Given the description of an element on the screen output the (x, y) to click on. 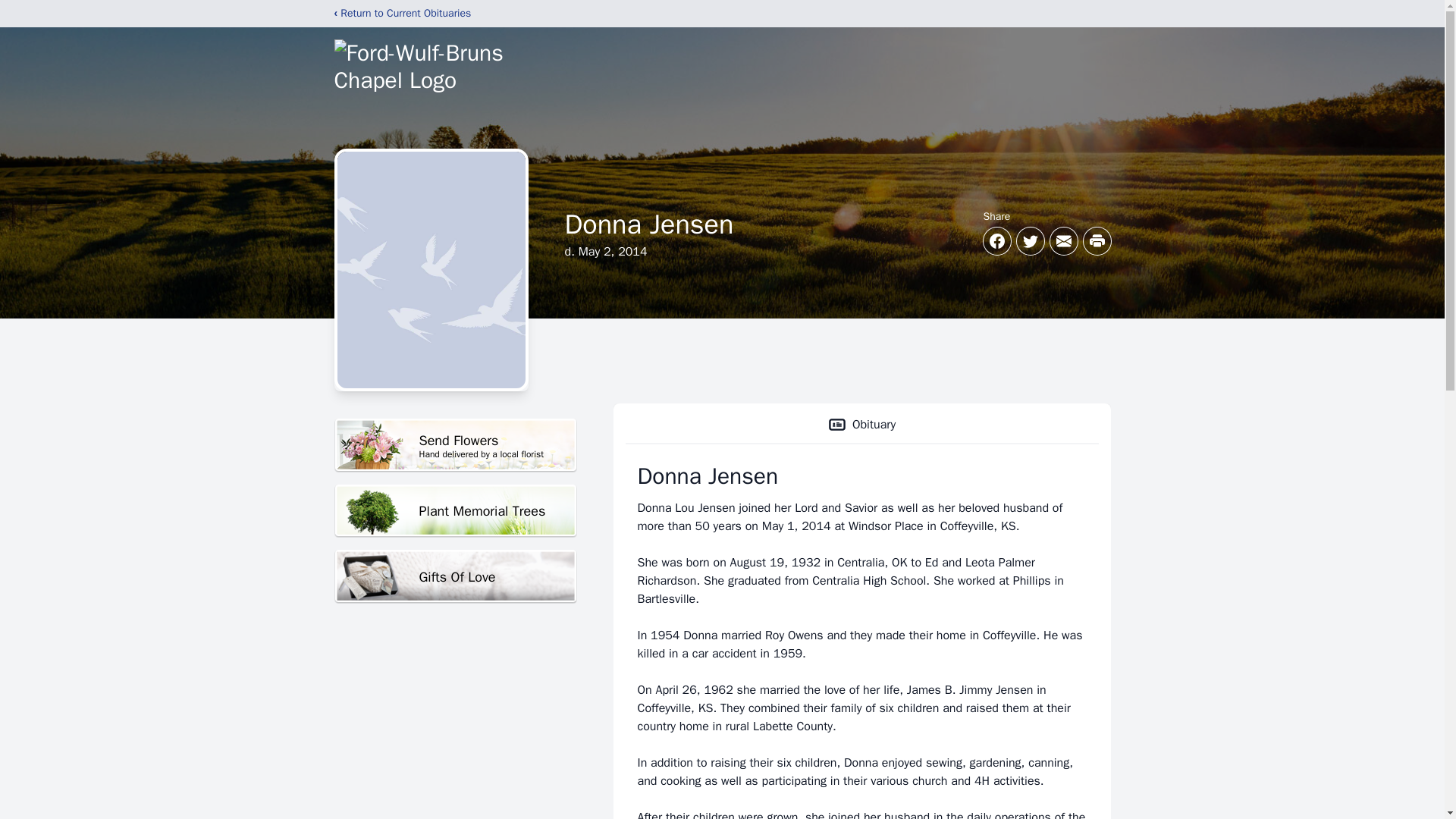
Obituary (860, 425)
Plant Memorial Trees (454, 445)
Gifts Of Love (454, 511)
